Given the description of an element on the screen output the (x, y) to click on. 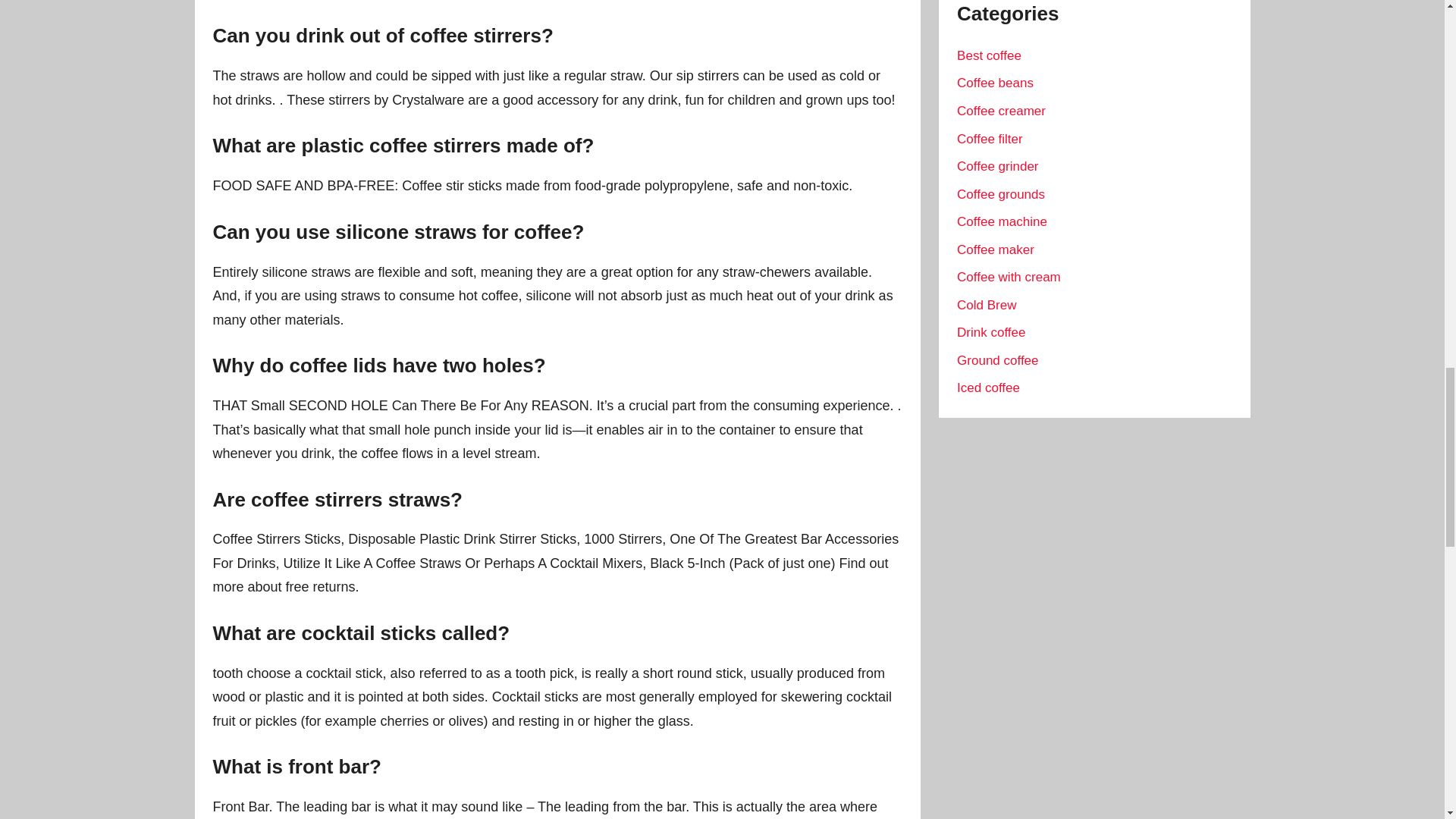
Best coffee (989, 55)
Coffee creamer (1000, 110)
Coffee maker (994, 249)
Coffee with cream (1008, 277)
Coffee filter (989, 138)
Coffee machine (1001, 221)
Coffee beans (994, 83)
Coffee grounds (1000, 194)
Coffee grinder (997, 165)
